Given the description of an element on the screen output the (x, y) to click on. 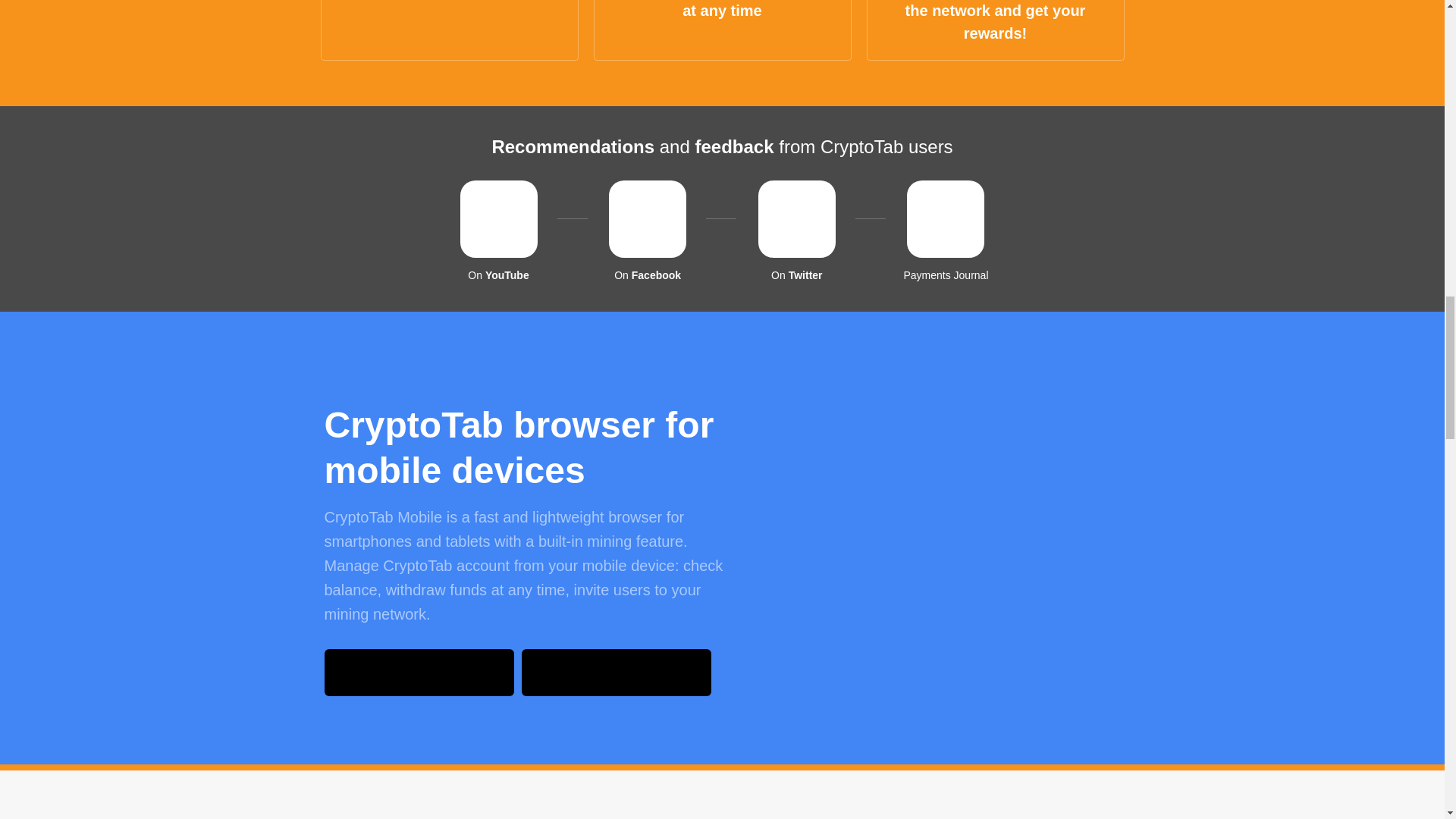
On Twitter (797, 230)
Payments Journal (945, 230)
On YouTube (498, 230)
On Facebook (647, 230)
